Given the description of an element on the screen output the (x, y) to click on. 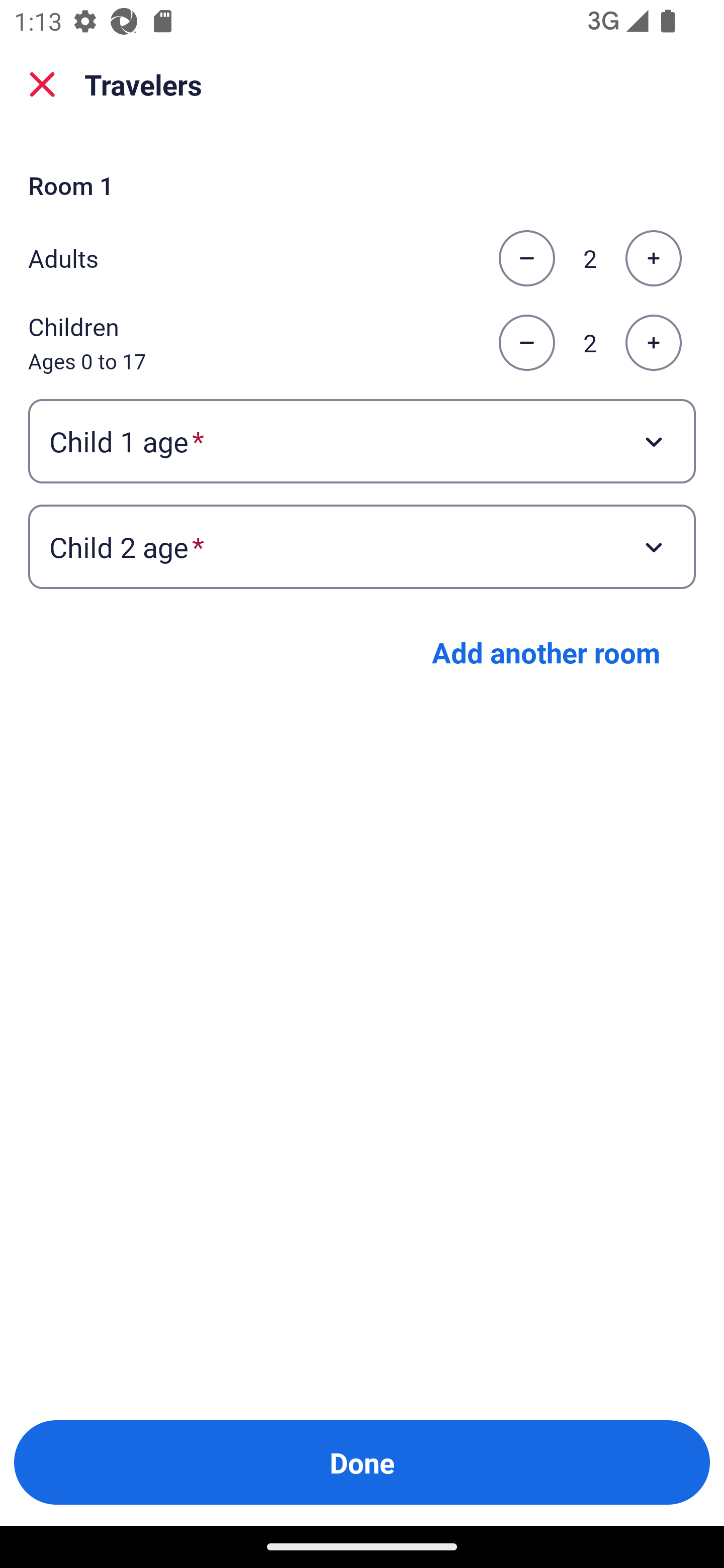
close (42, 84)
Decrease the number of adults (526, 258)
Increase the number of adults (653, 258)
Decrease the number of children (526, 343)
Increase the number of children (653, 343)
Child 1 age required Button (361, 440)
Child 2 age required Button (361, 546)
Add another room (545, 651)
Done (361, 1462)
